Given the description of an element on the screen output the (x, y) to click on. 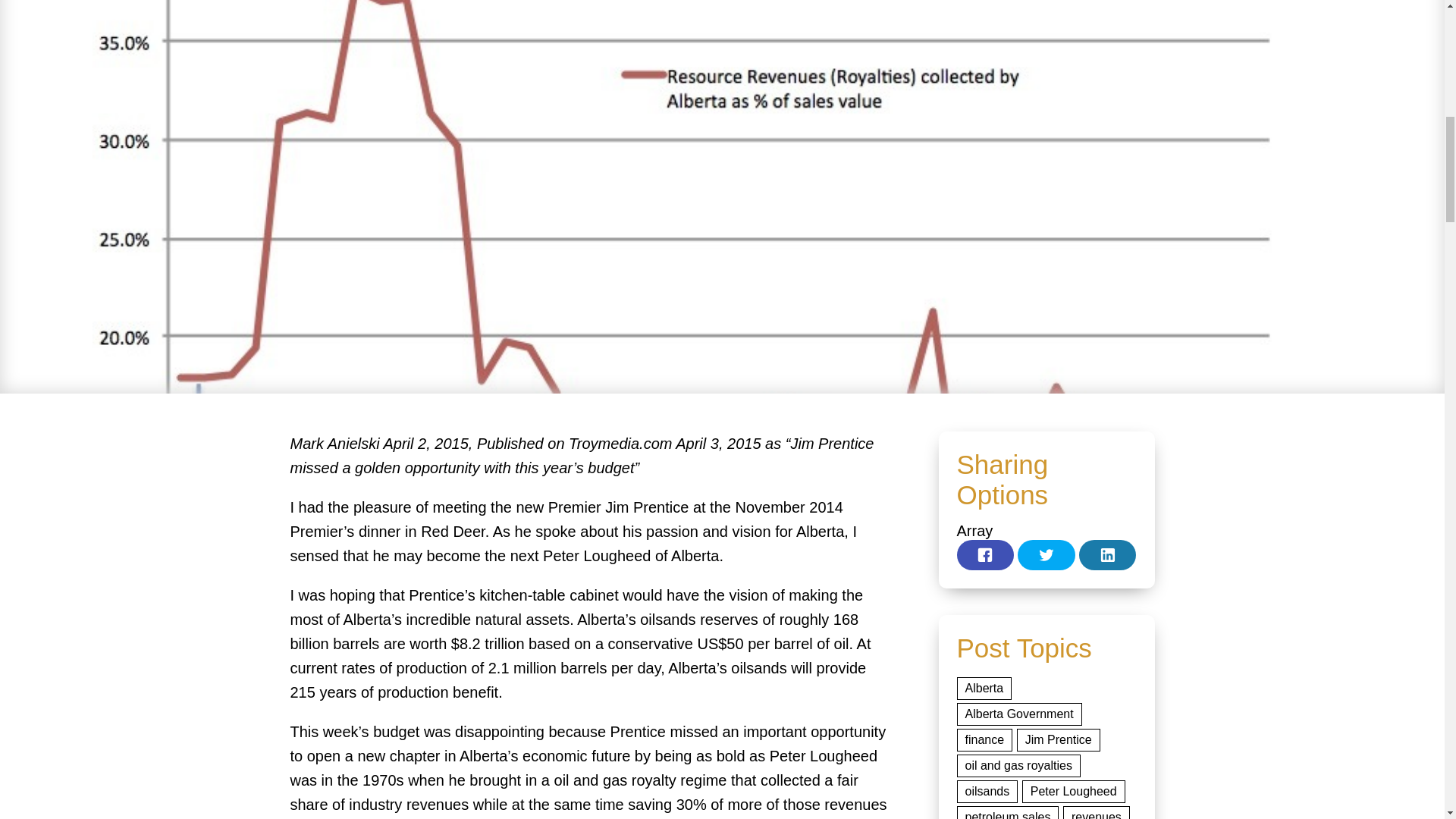
finance (984, 739)
Alberta Government (1018, 713)
Share on Facebook! (985, 554)
Share on LinkedIn! (1107, 554)
oilsands (986, 791)
Jim Prentice (1058, 739)
Alberta (983, 688)
oil and gas royalties (1018, 765)
Share on Twitter! (1046, 554)
